Given the description of an element on the screen output the (x, y) to click on. 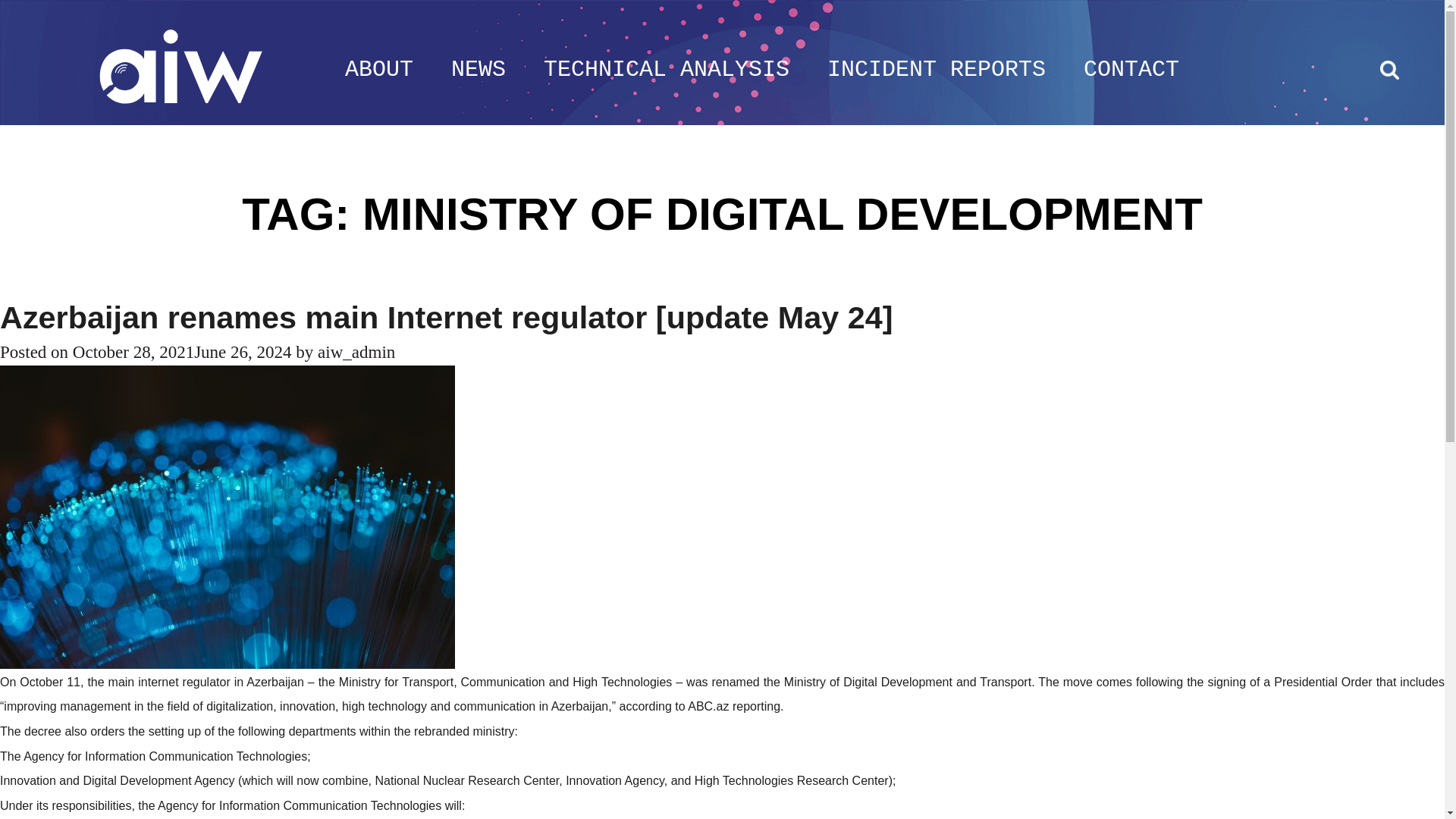
INCIDENT REPORTS (936, 69)
Go (1365, 69)
TECHNICAL ANALYSIS (666, 69)
CONTACT (1131, 69)
Presidential Order (1322, 681)
NEWS (478, 69)
October 28, 2021June 26, 2024 (182, 352)
ABOUT (379, 69)
according (644, 706)
